Given the description of an element on the screen output the (x, y) to click on. 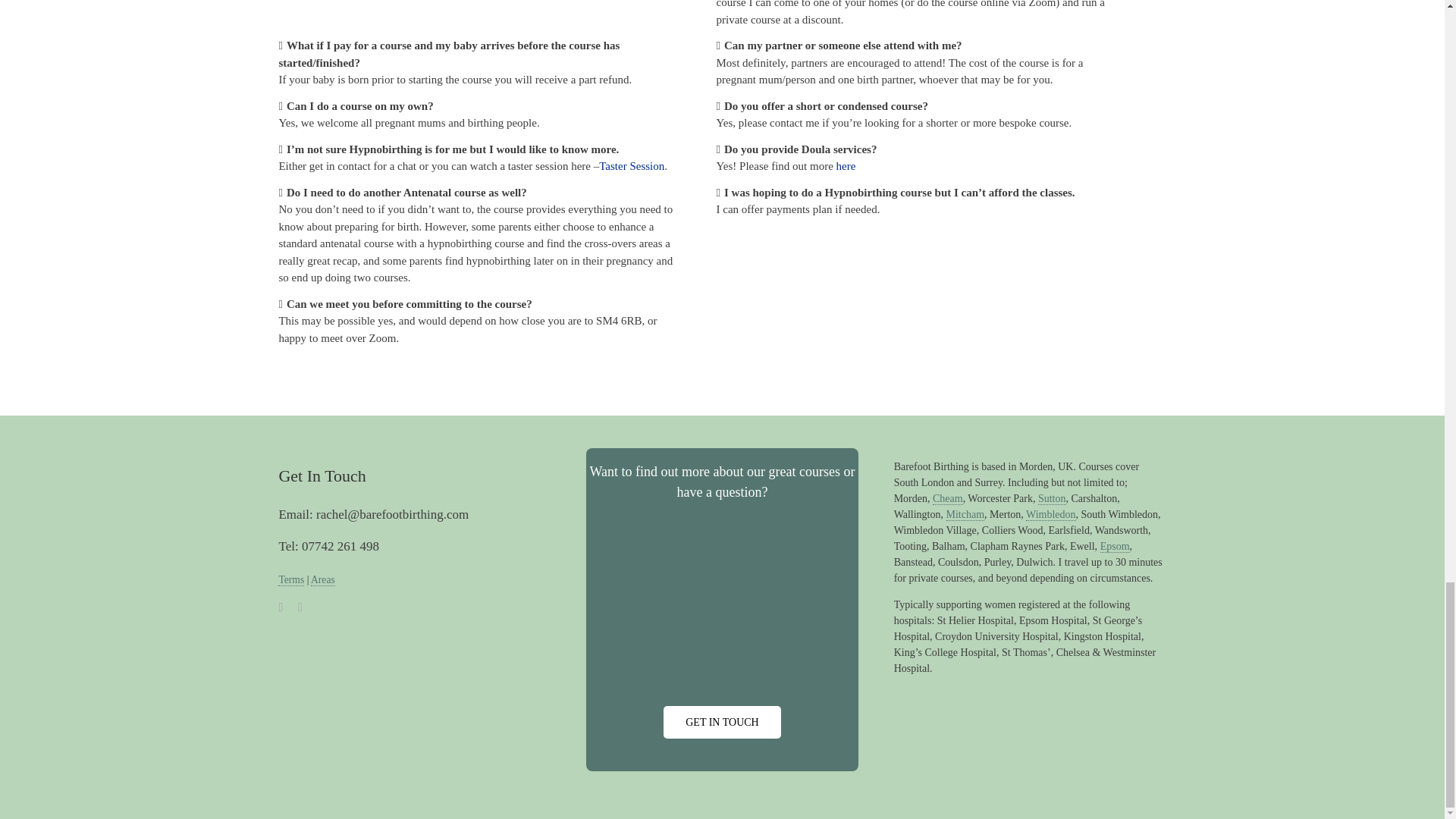
GET IN TOUCH (721, 721)
Epsom (1114, 546)
Sutton (1051, 499)
Mitcham (965, 514)
Areas (322, 580)
Terms (291, 580)
Cheam (947, 499)
footer-cta (721, 610)
here (845, 165)
Taster Session (630, 165)
